Given the description of an element on the screen output the (x, y) to click on. 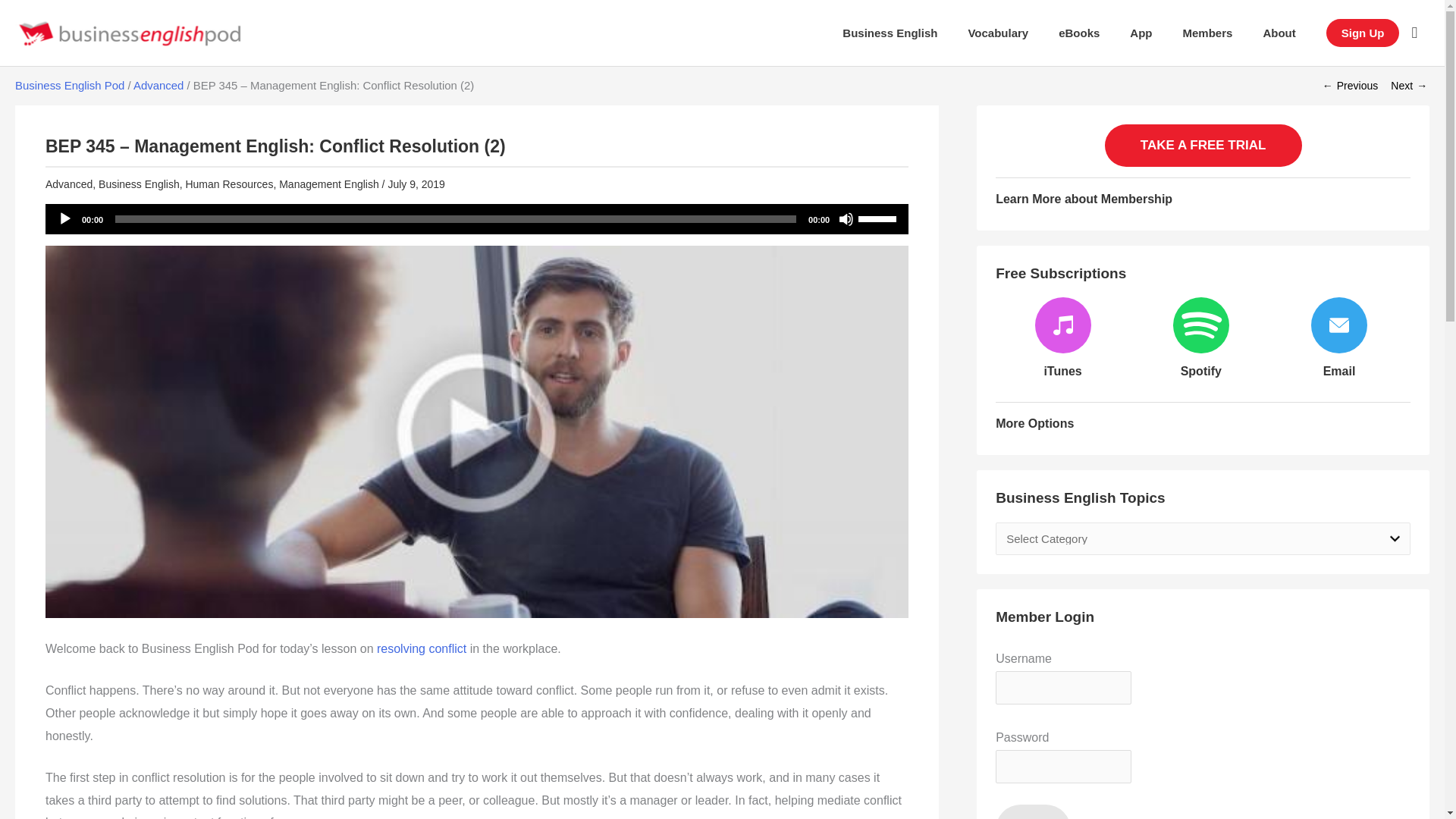
Mute (845, 218)
Business English (889, 33)
Business English Vocabulary (997, 33)
Business English eBooks (1079, 33)
Login (1032, 811)
Business English Lessons (889, 33)
Play (65, 218)
Go to Business English Pod :: Learn Business English Online. (68, 84)
eBooks (1079, 33)
About Business English Pod (1278, 33)
